Given the description of an element on the screen output the (x, y) to click on. 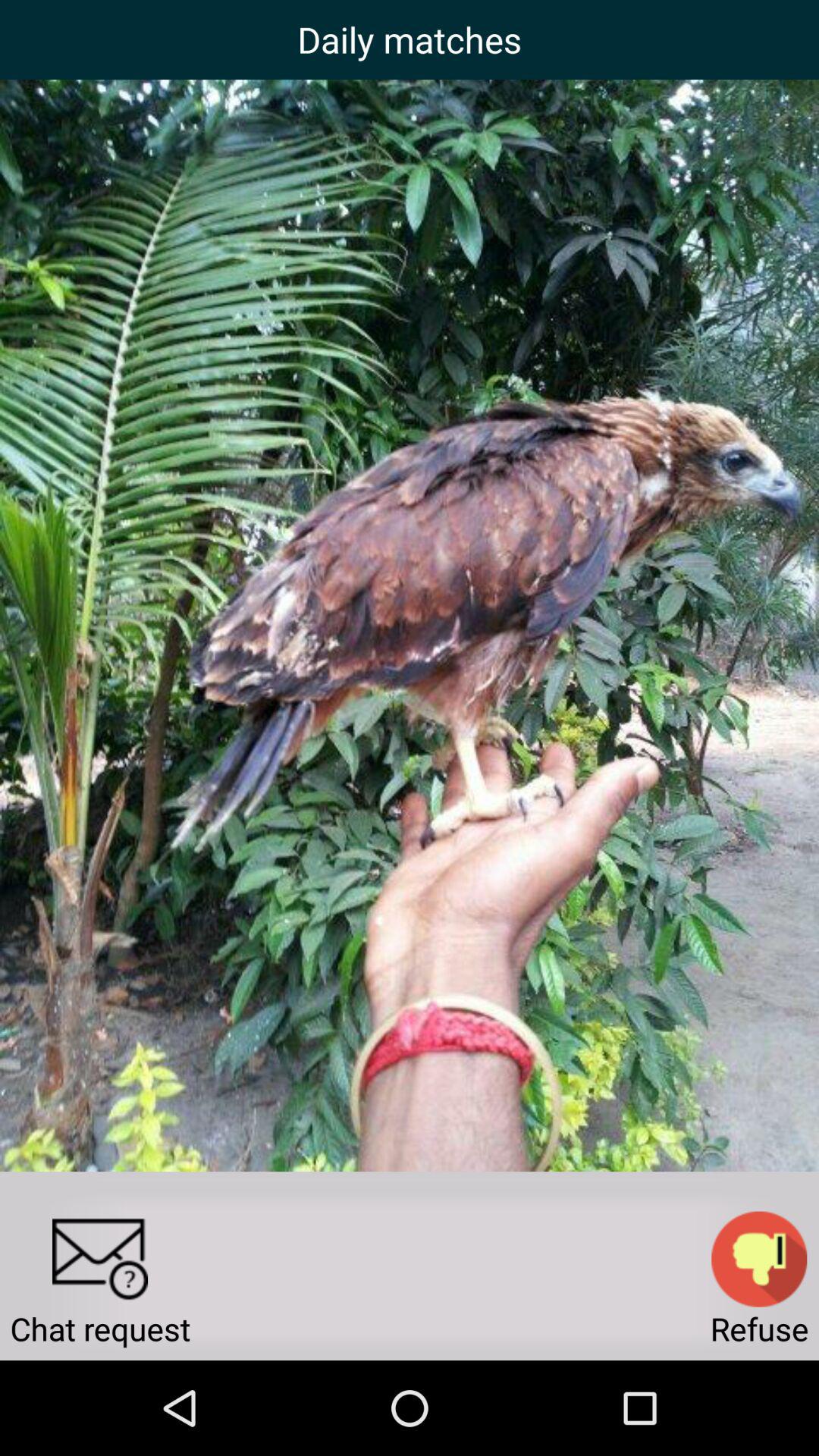
turn on the item above refuse icon (759, 1258)
